Given the description of an element on the screen output the (x, y) to click on. 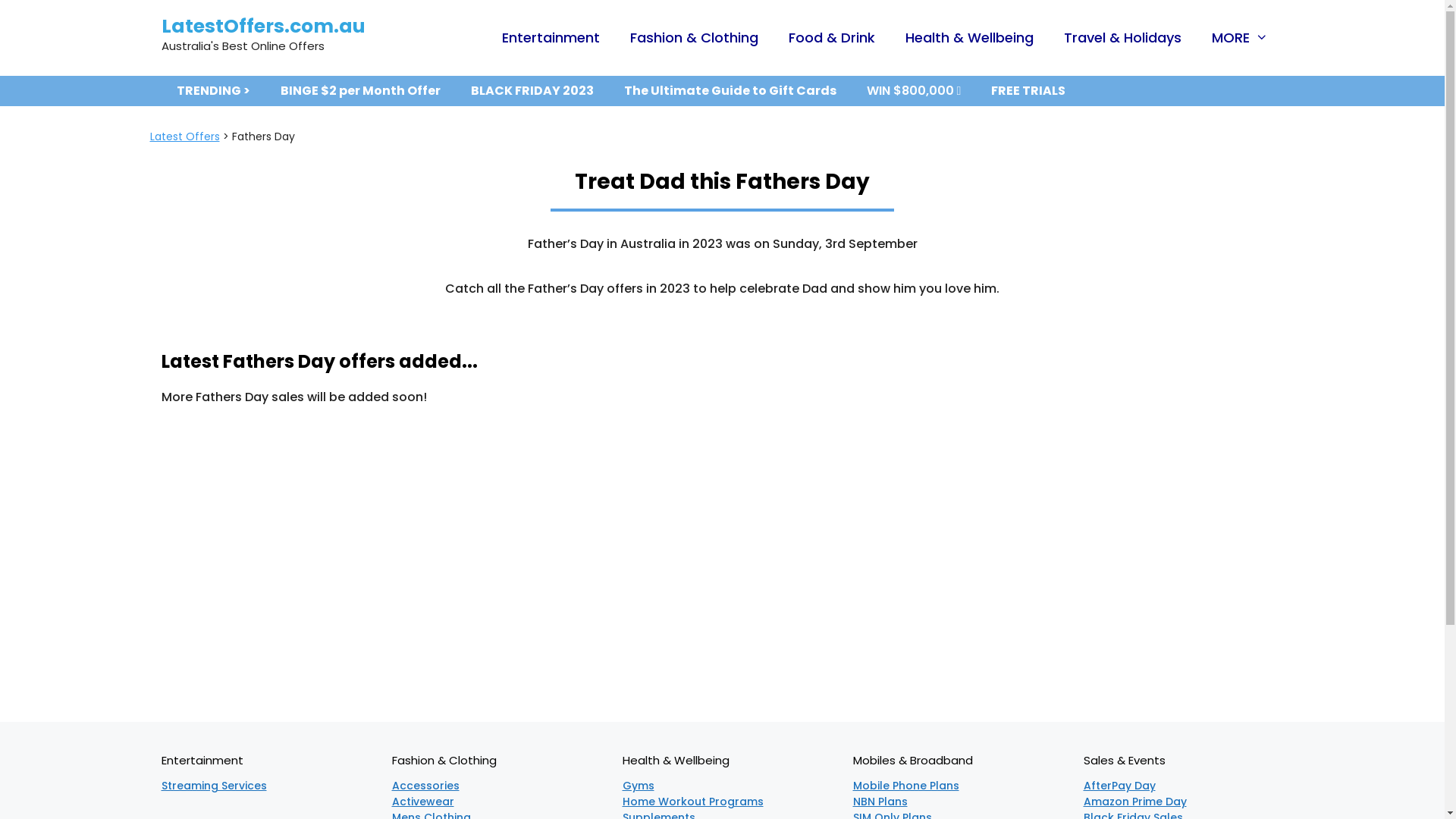
Streaming Services Element type: text (213, 785)
BLACK FRIDAY 2023 Element type: text (531, 90)
FREE TRIALS Element type: text (1027, 90)
BINGE $2 per Month Offer Element type: text (360, 90)
Health & Wellbeing Element type: text (969, 37)
Food & Drink Element type: text (831, 37)
Gyms Element type: text (637, 785)
Activewear Element type: text (422, 801)
Mobile Phone Plans Element type: text (905, 785)
Advertisement Element type: hover (721, 573)
Latest Offers Element type: text (184, 136)
Entertainment Element type: text (550, 37)
TRENDING > Element type: text (212, 90)
Fashion & Clothing Element type: text (694, 37)
AfterPay Day Element type: text (1118, 785)
MORE Element type: text (1239, 37)
The Ultimate Guide to Gift Cards Element type: text (729, 90)
LatestOffers.com.au Element type: text (262, 25)
Amazon Prime Day Element type: text (1134, 801)
Travel & Holidays Element type: text (1122, 37)
NBN Plans Element type: text (879, 801)
Accessories Element type: text (424, 785)
Home Workout Programs Element type: text (691, 801)
